Given the description of an element on the screen output the (x, y) to click on. 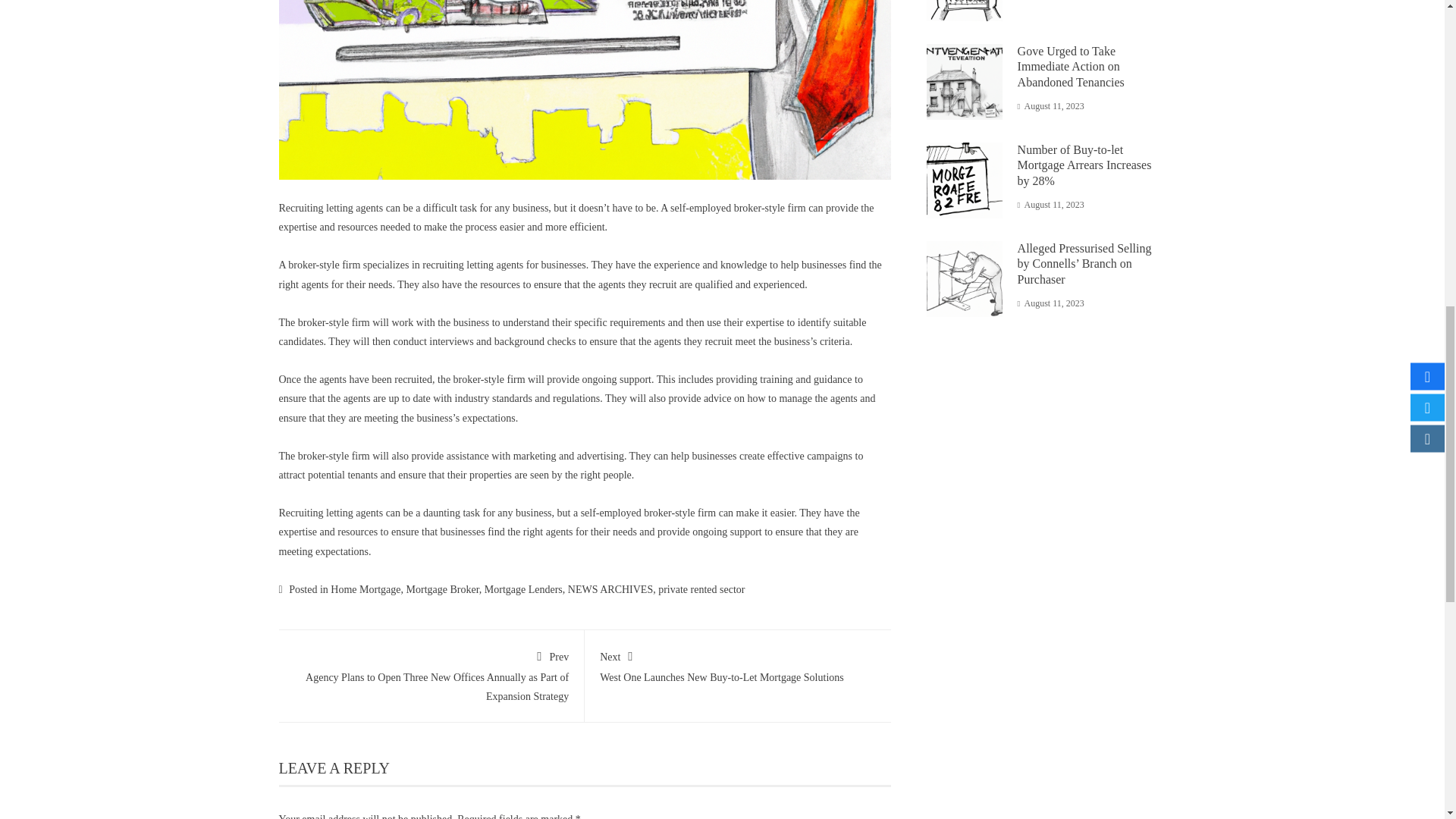
Mortgage Broker (442, 589)
Home Mortgage (365, 589)
Mortgage Lenders (523, 589)
NEWS ARCHIVES (609, 589)
private rented sector (737, 664)
Gove Urged to Take Immediate Action on Abandoned Tenancies (701, 589)
